Given the description of an element on the screen output the (x, y) to click on. 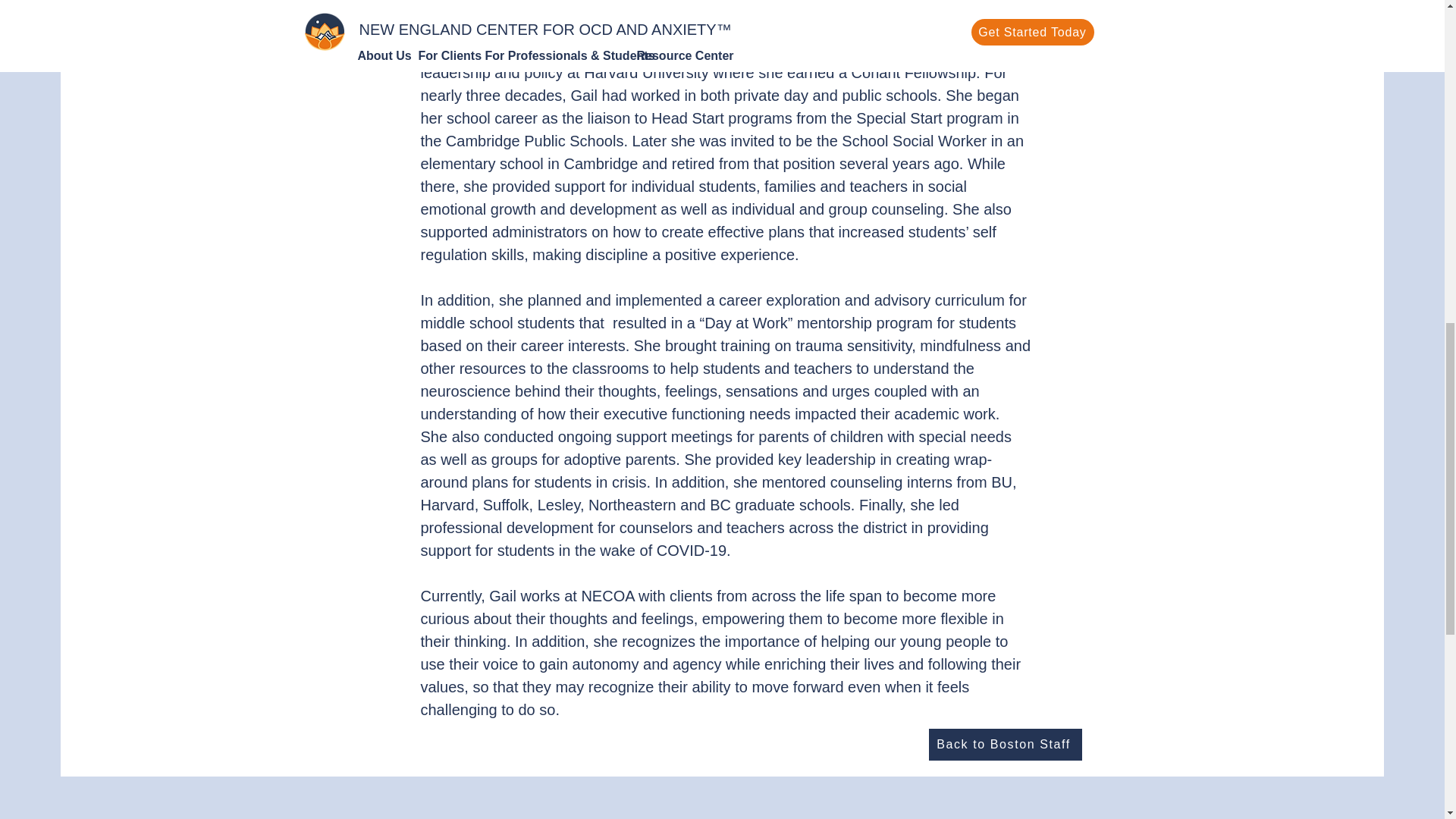
Back to Boston Staff (1004, 744)
